Given the description of an element on the screen output the (x, y) to click on. 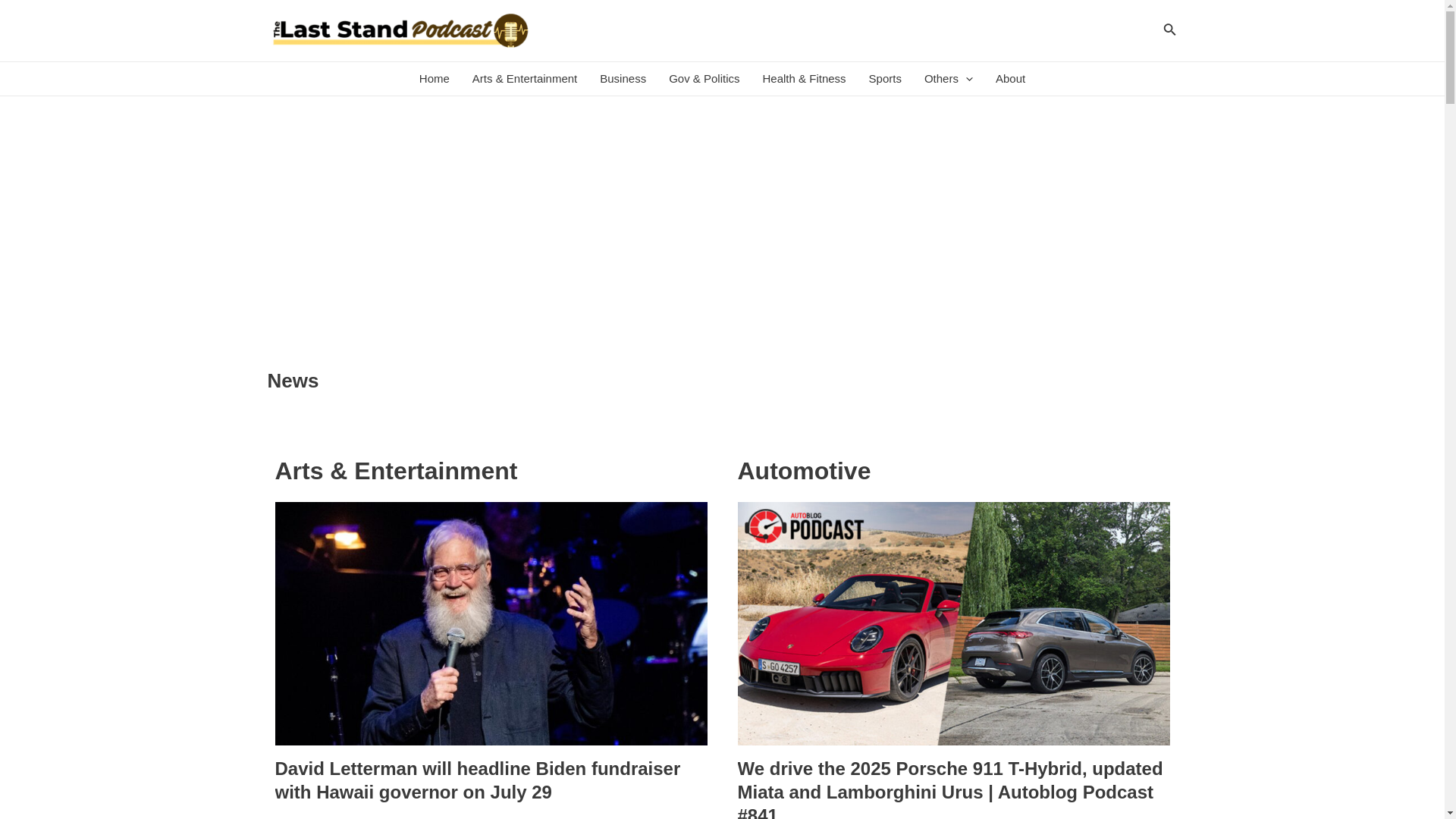
Sports (884, 78)
Home (434, 78)
Business (623, 78)
About (1010, 78)
Others (948, 78)
